Given the description of an element on the screen output the (x, y) to click on. 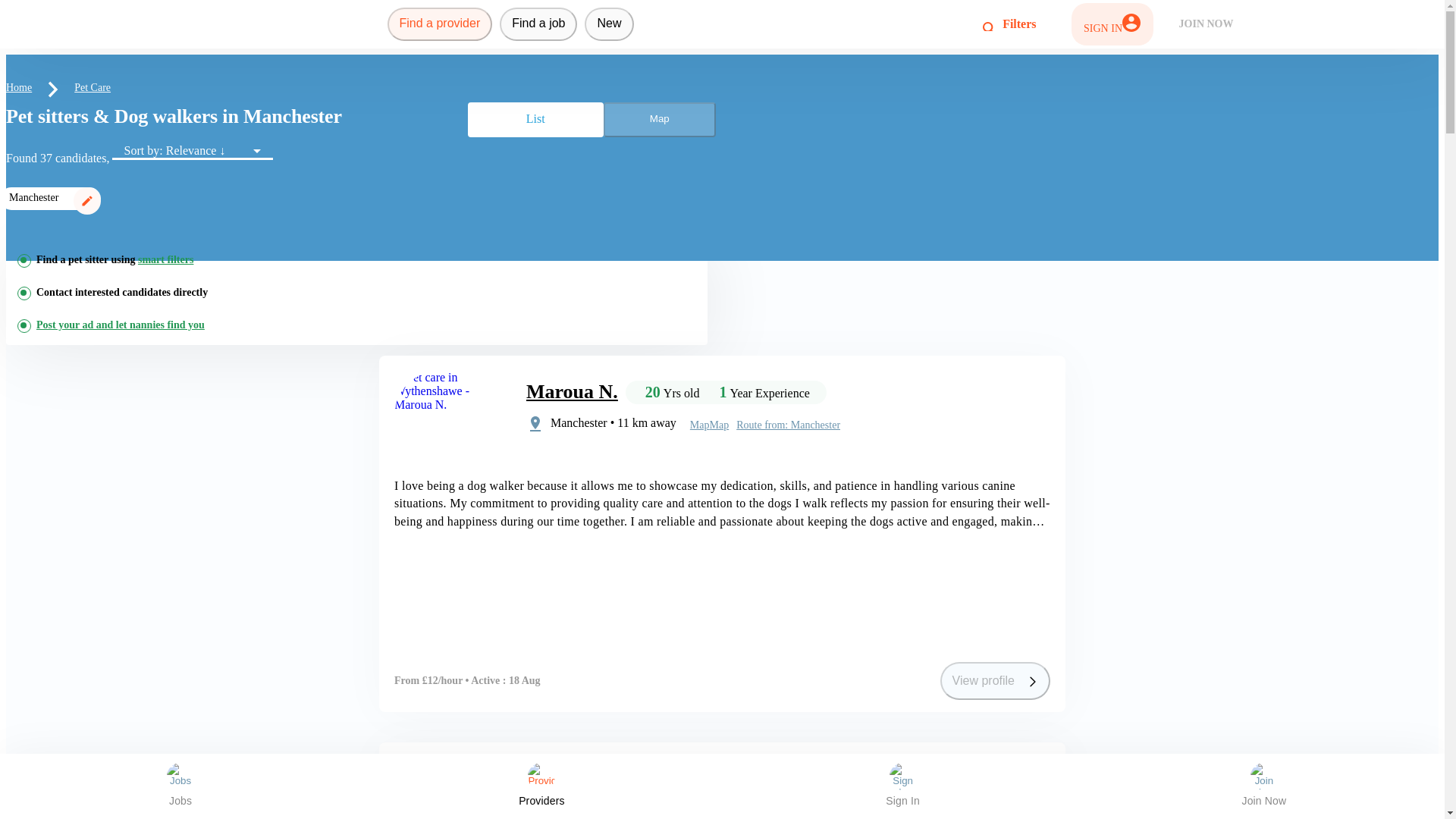
MapMap (713, 812)
Post your ad and let nannies find you (120, 324)
View profile (994, 680)
Find a job (537, 23)
Filters (1009, 23)
Route from: Manchester (792, 811)
Maroua N. (571, 391)
JOIN NOW (1206, 23)
New (609, 23)
Elisha K. (564, 778)
